Given the description of an element on the screen output the (x, y) to click on. 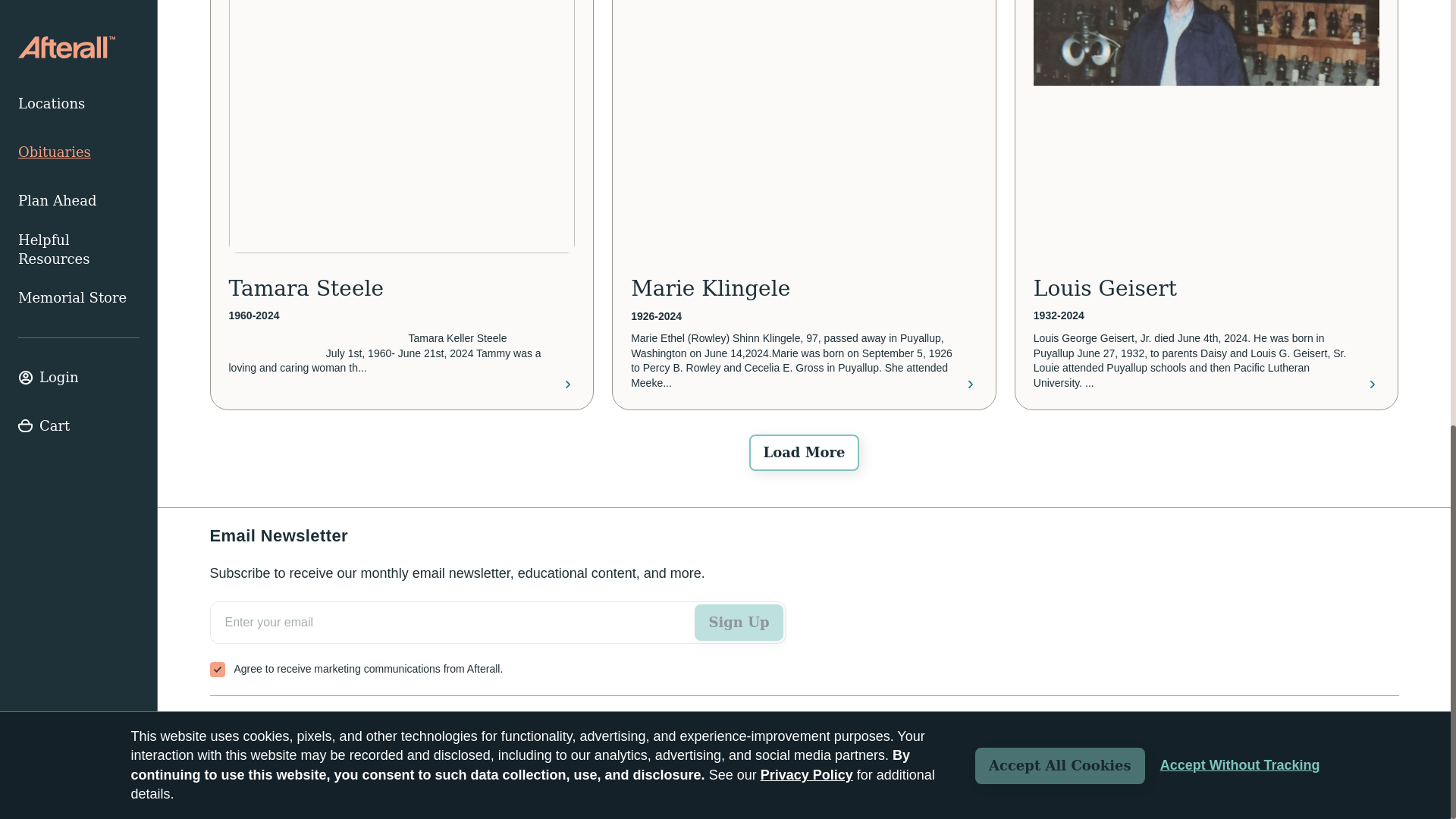
Sign Up (738, 622)
Privacy Policy (1362, 776)
FAQs (341, 723)
Email Newsletter (497, 639)
Load More (804, 452)
Track an Order (257, 723)
